Given the description of an element on the screen output the (x, y) to click on. 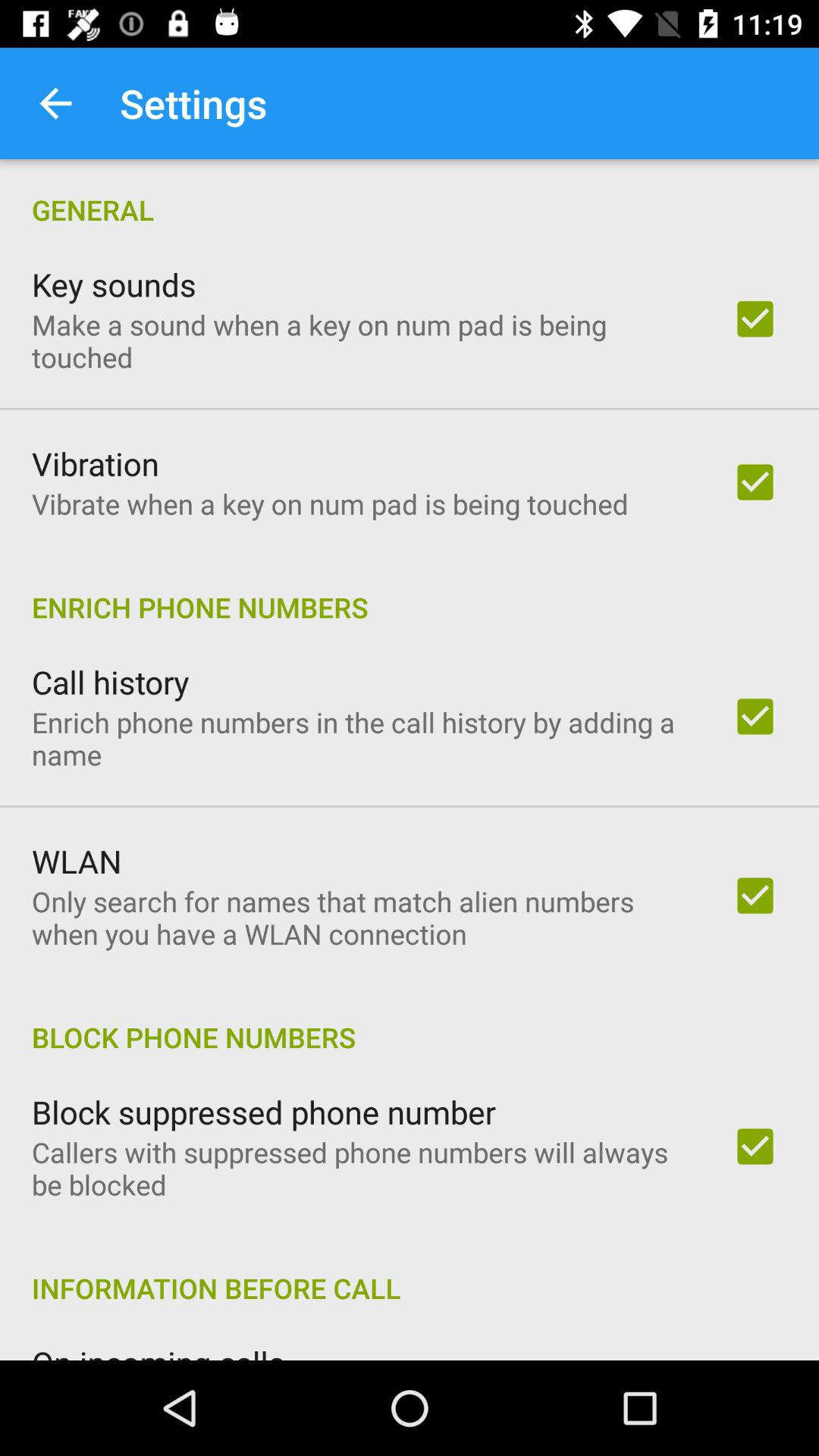
choose icon below general icon (113, 283)
